Given the description of an element on the screen output the (x, y) to click on. 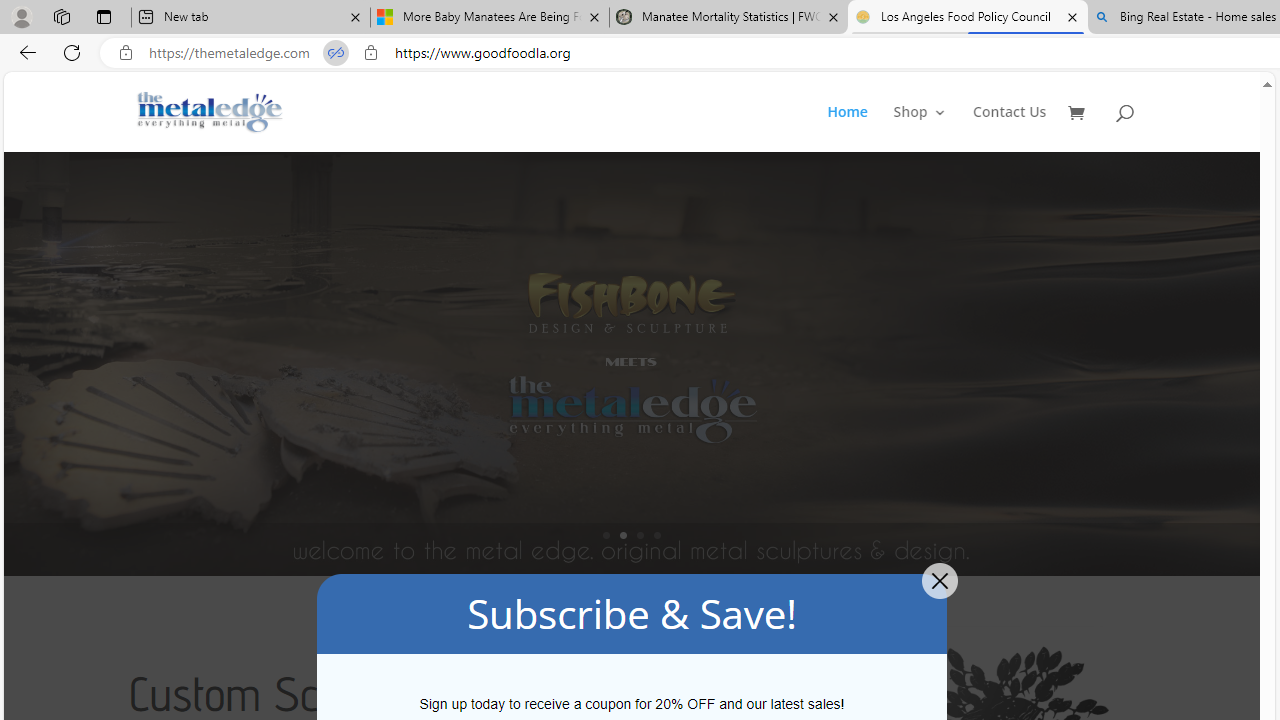
Shop 3 (920, 128)
Shop3 (931, 128)
Los Angeles Food Policy Council (967, 17)
3 (640, 535)
Metal Fish Sculptures & Metal Designs (210, 111)
Metal Fish Sculptures & Metal Designs (210, 111)
1 (606, 535)
